Given the description of an element on the screen output the (x, y) to click on. 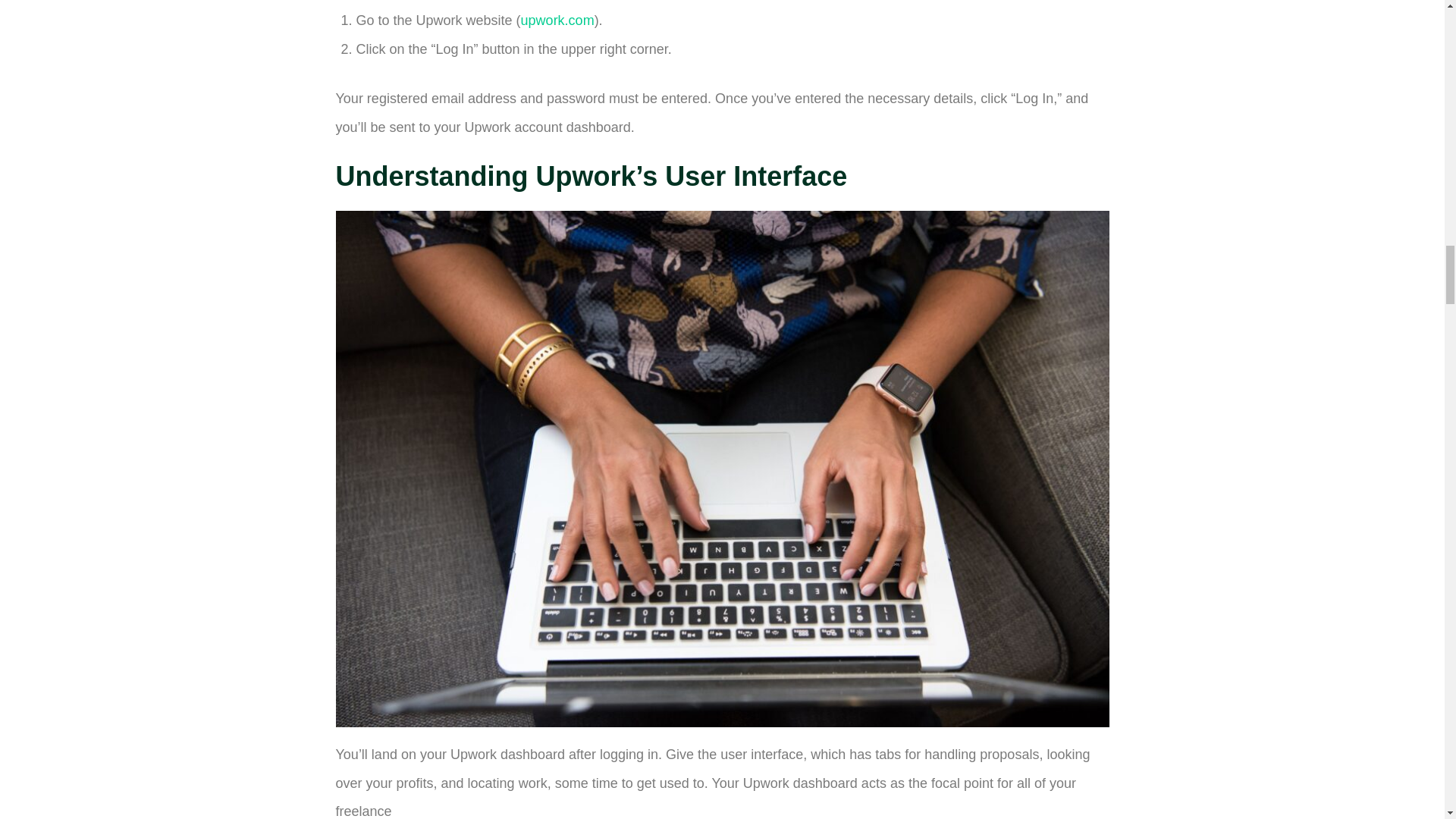
upwork.com (557, 20)
